Given the description of an element on the screen output the (x, y) to click on. 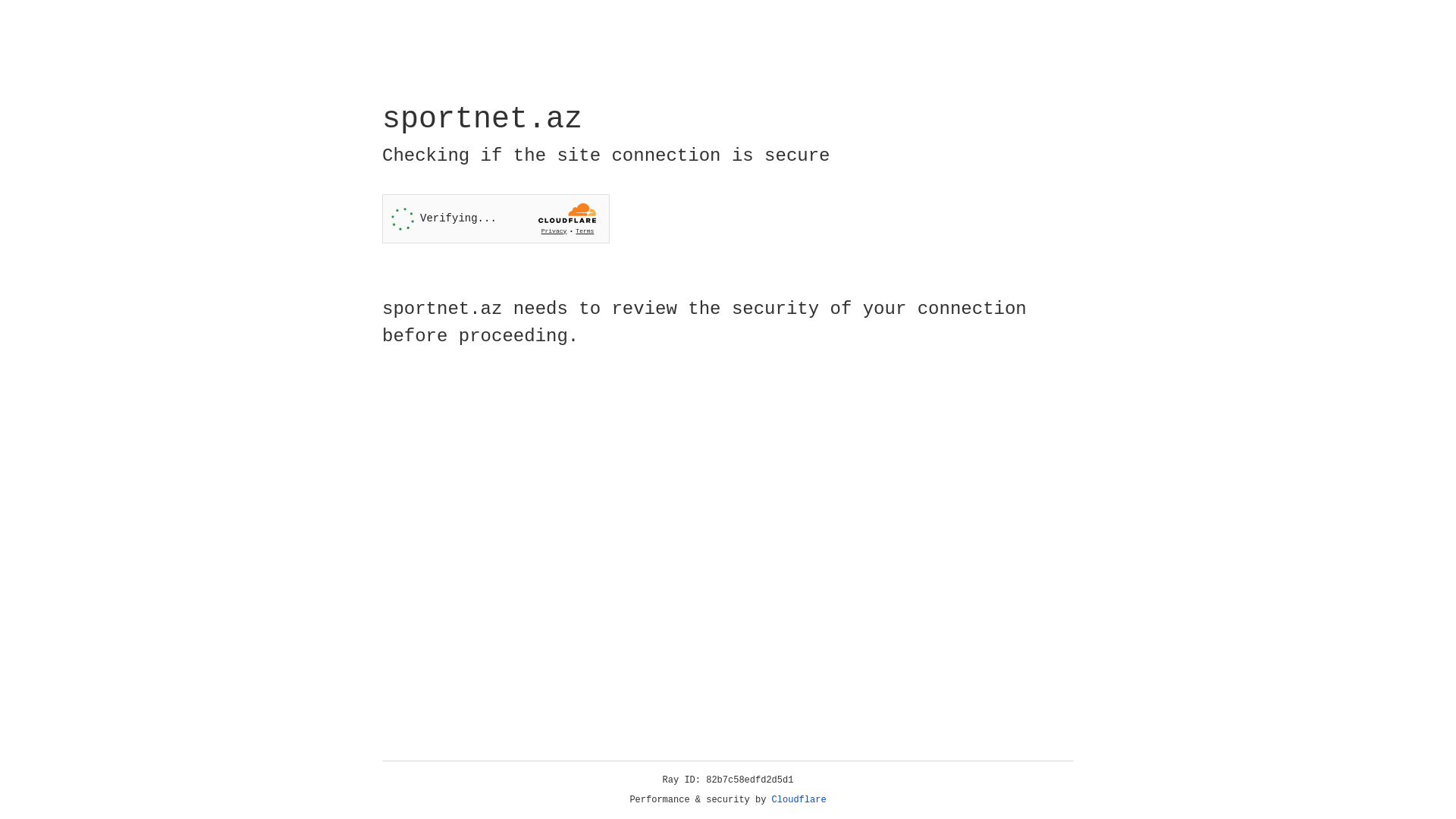
Cloudflare Element type: text (798, 799)
Widget containing a Cloudflare security challenge Element type: hover (495, 218)
